Given the description of an element on the screen output the (x, y) to click on. 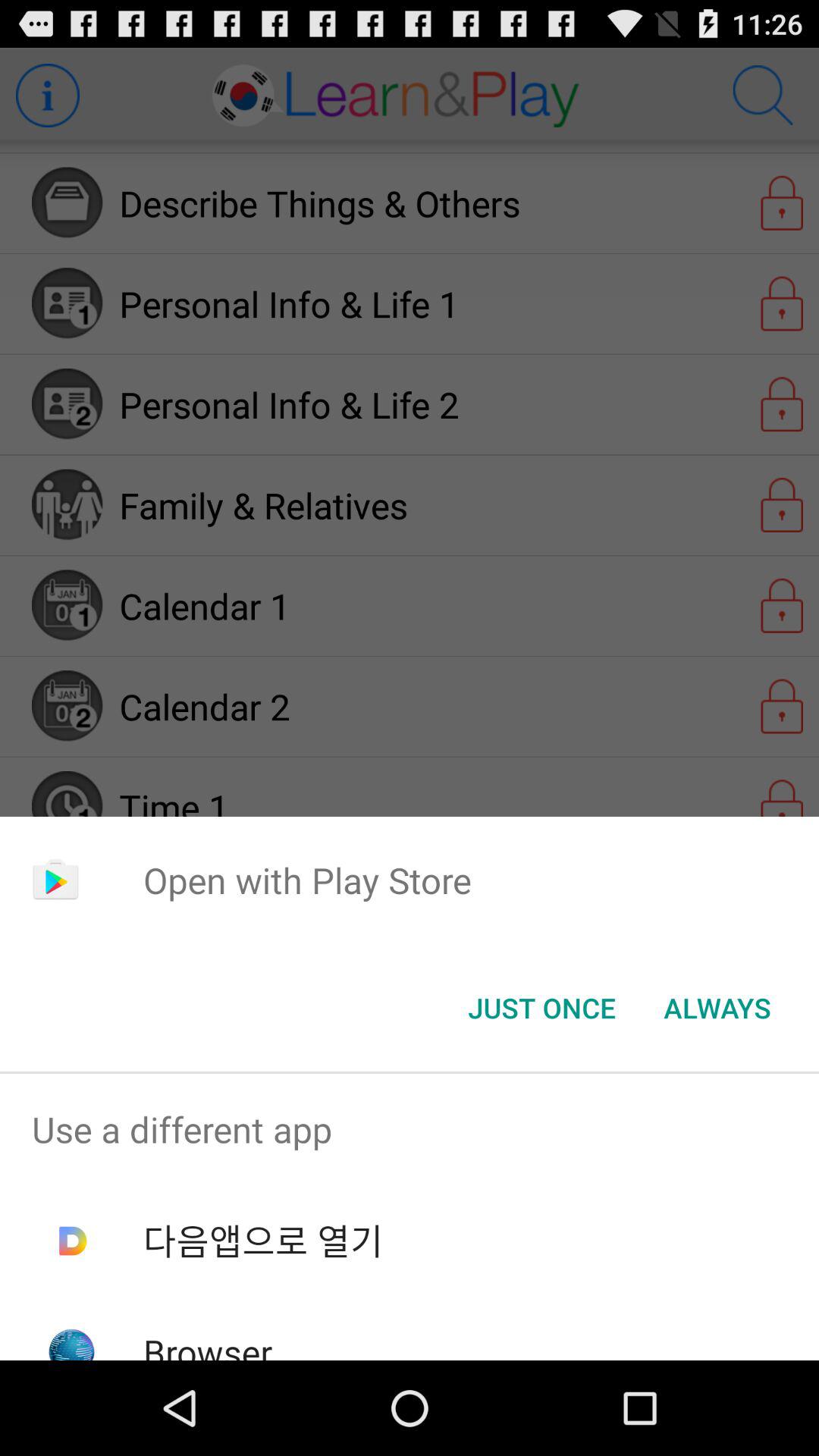
scroll until the browser item (207, 1344)
